Given the description of an element on the screen output the (x, y) to click on. 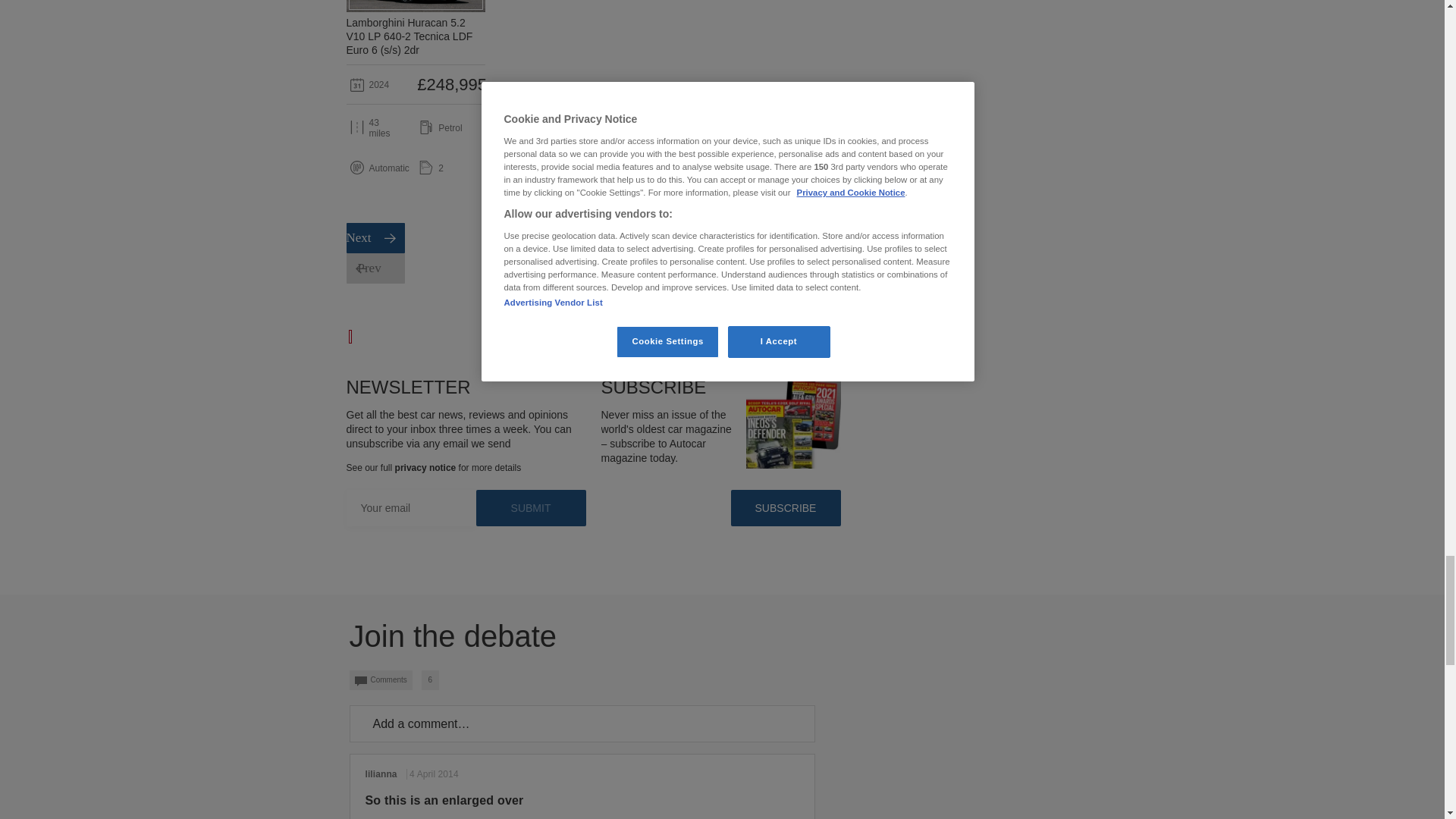
Submit (531, 507)
